Given the description of an element on the screen output the (x, y) to click on. 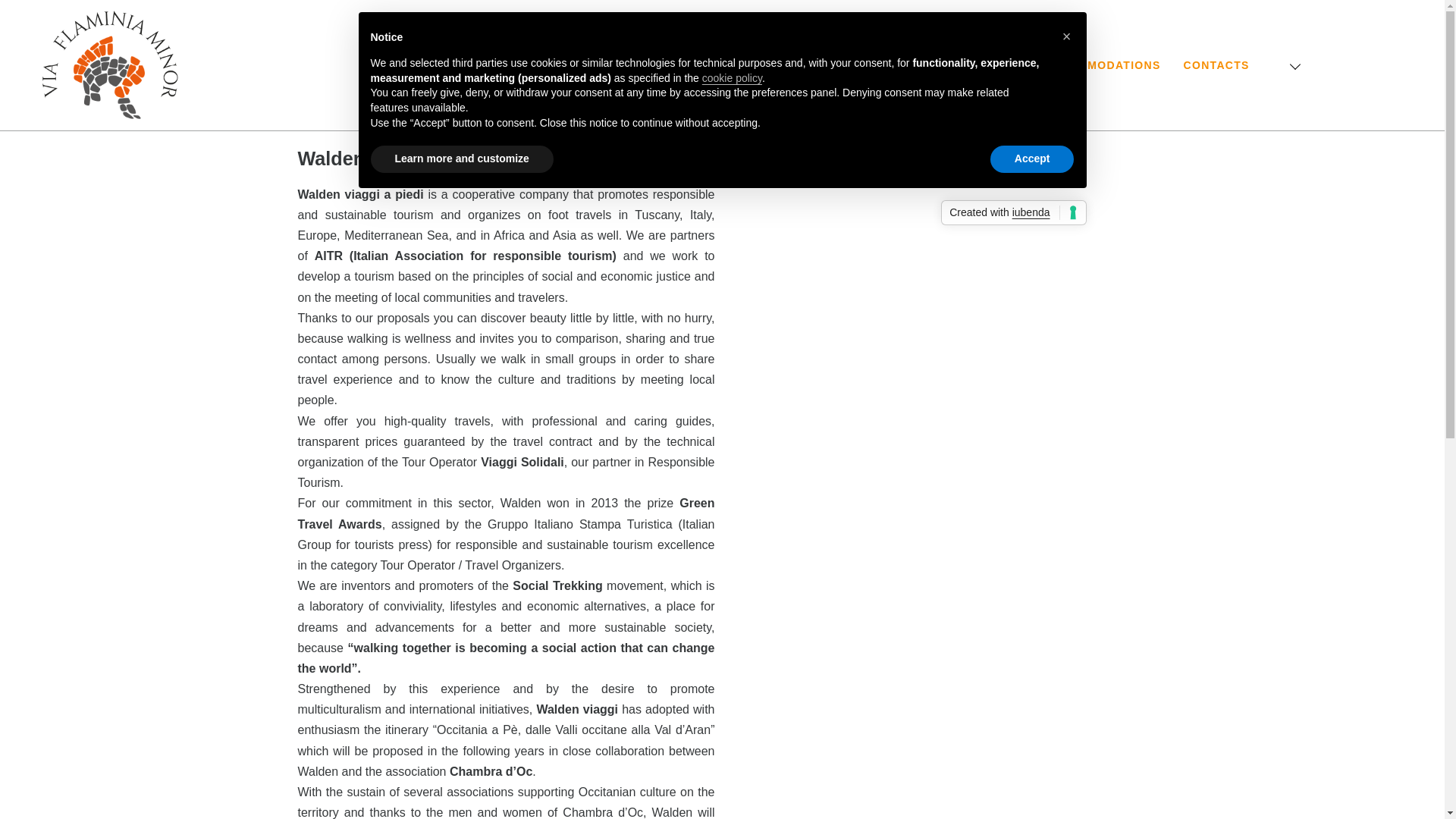
MAP (711, 64)
cookie policy (731, 78)
Accept (1032, 158)
HOME (658, 64)
ATTRACTIONS (892, 64)
SERVICES (989, 64)
CONTACTS (1216, 64)
Created with iubenda (1013, 212)
ITINERARIES (787, 64)
iubenda - Cookie Policy and Cookie Compliance Management (1013, 212)
